Given the description of an element on the screen output the (x, y) to click on. 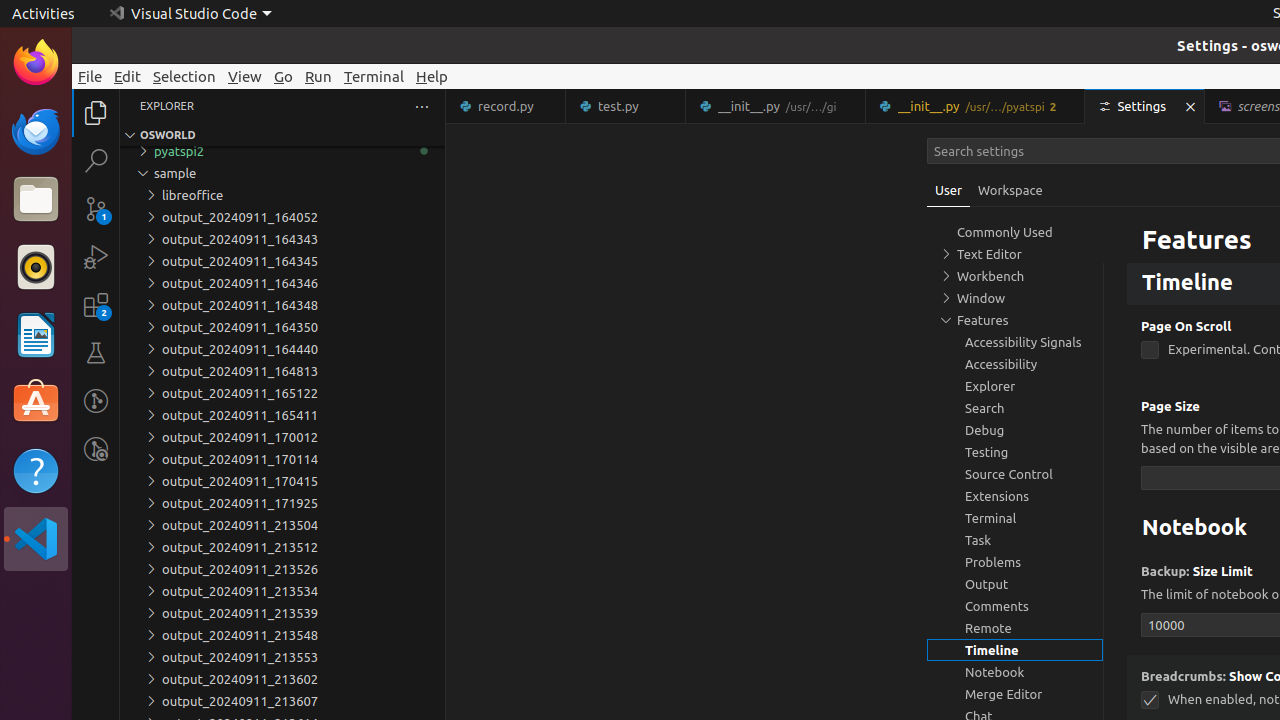
Debug, group Element type: tree-item (1015, 430)
GitLens Inspect Element type: page-tab (96, 449)
Explorer (Ctrl+Shift+E) Element type: page-tab (96, 113)
output_20240911_213534 Element type: tree-item (282, 591)
Settings Element type: page-tab (1145, 106)
